Given the description of an element on the screen output the (x, y) to click on. 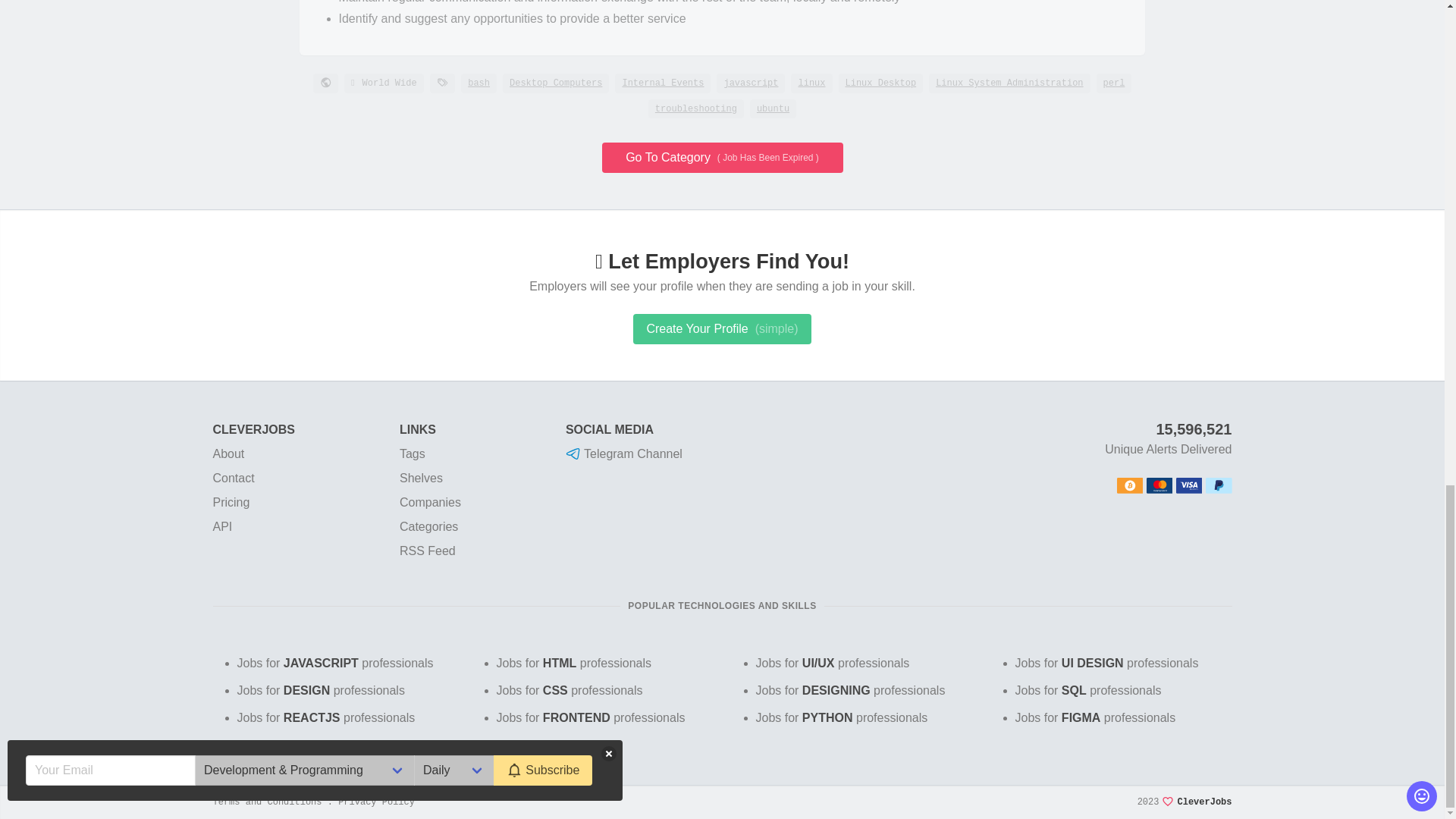
ubuntu (772, 108)
Linux System Administration (1008, 83)
About (228, 453)
Telegram Channel (624, 453)
Companies (429, 502)
Tags (411, 453)
troubleshooting (695, 108)
API (221, 526)
Linux Desktop (880, 83)
Categories (428, 526)
